Given the description of an element on the screen output the (x, y) to click on. 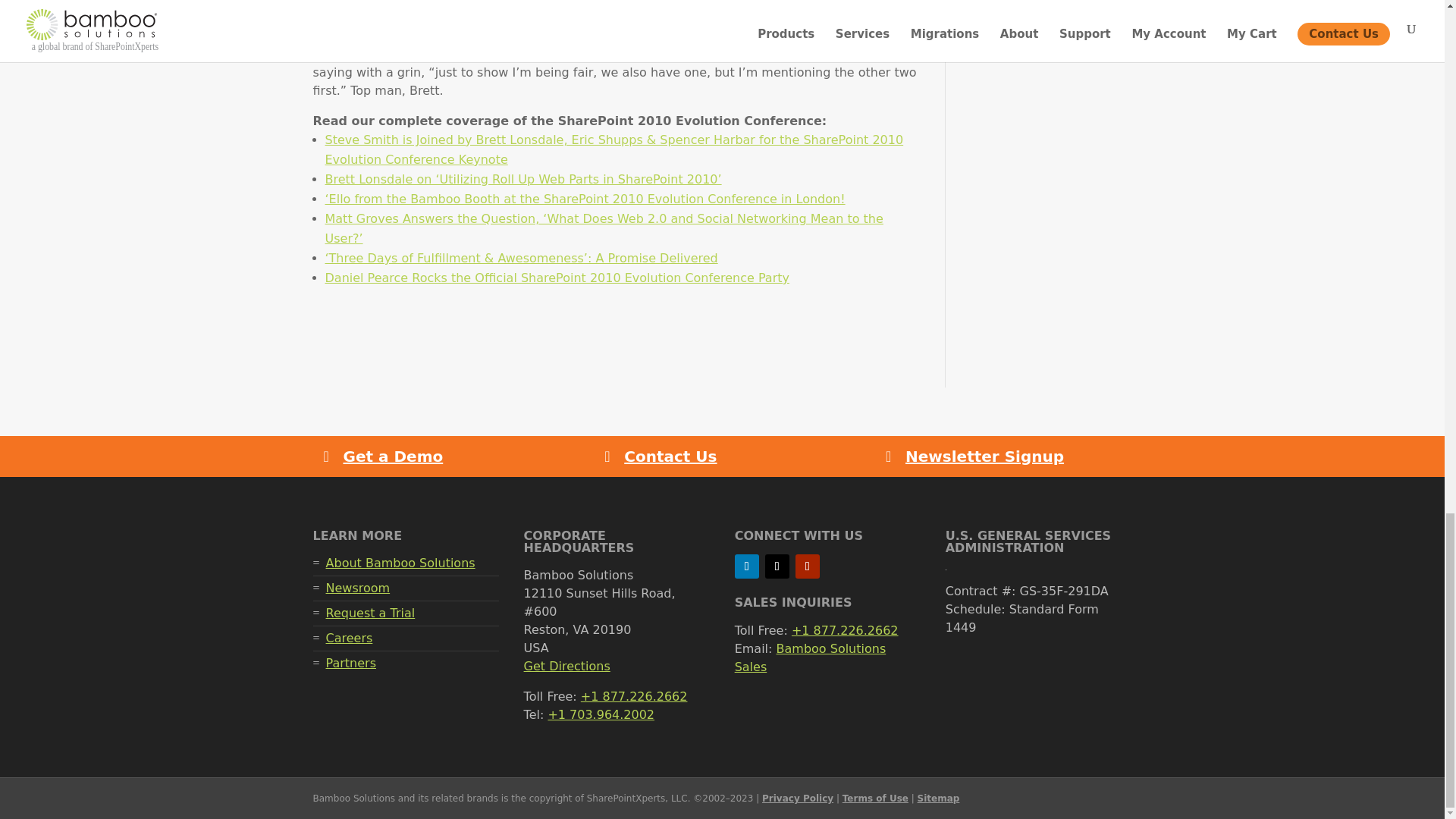
Follow on Youtube (806, 566)
Follow on Twitter (777, 566)
Follow on LinkedIn (746, 566)
